Given the description of an element on the screen output the (x, y) to click on. 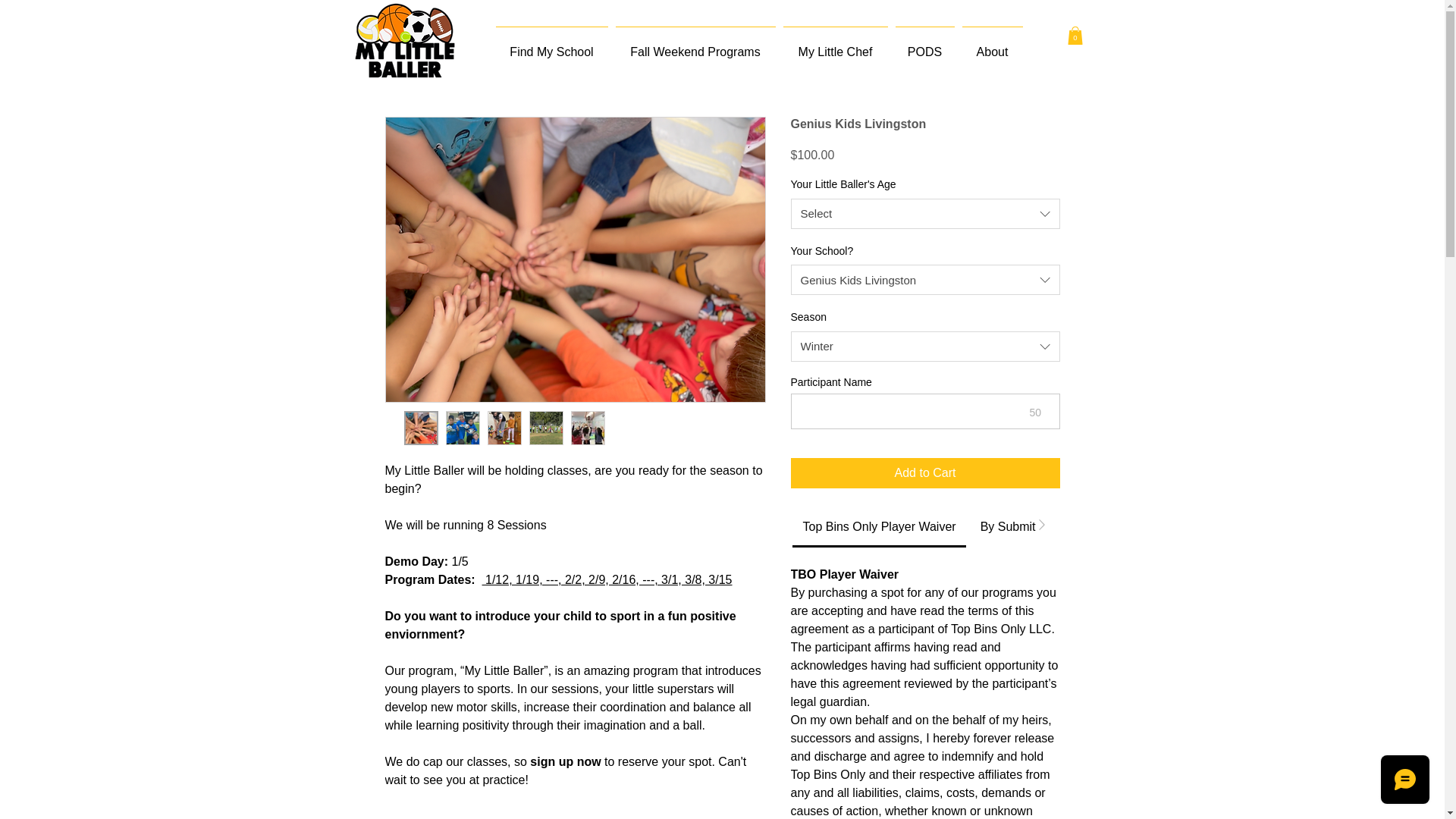
Winter (924, 346)
Fall Weekend Programs (694, 45)
Log In (1333, 30)
PODS (924, 45)
Use right and left arrows to navigate between tabs (879, 526)
Add to Cart (924, 472)
Use right and left arrows to navigate between tabs (1051, 526)
Genius Kids Livingston (924, 279)
Find My School (551, 45)
Select (924, 214)
